Given the description of an element on the screen output the (x, y) to click on. 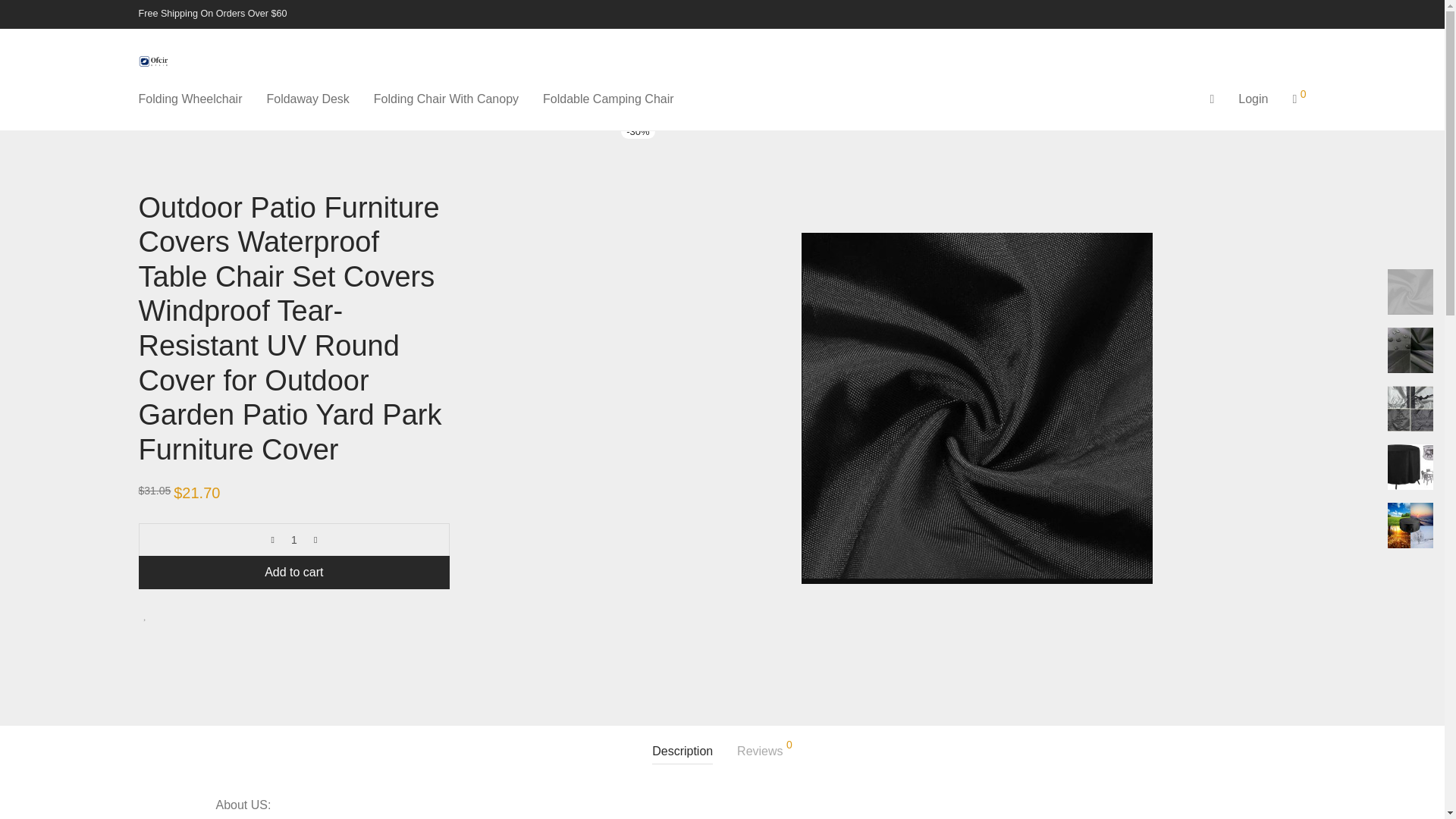
0 (1298, 99)
Login (1252, 99)
Folding Chair With Canopy (446, 99)
Reviews 0 (764, 751)
Foldable Camping Chair (608, 99)
Folding Wheelchair (189, 99)
Foldaway Desk (307, 99)
Add to cart (293, 572)
Description (682, 751)
Add to Wishlist (145, 615)
